Given the description of an element on the screen output the (x, y) to click on. 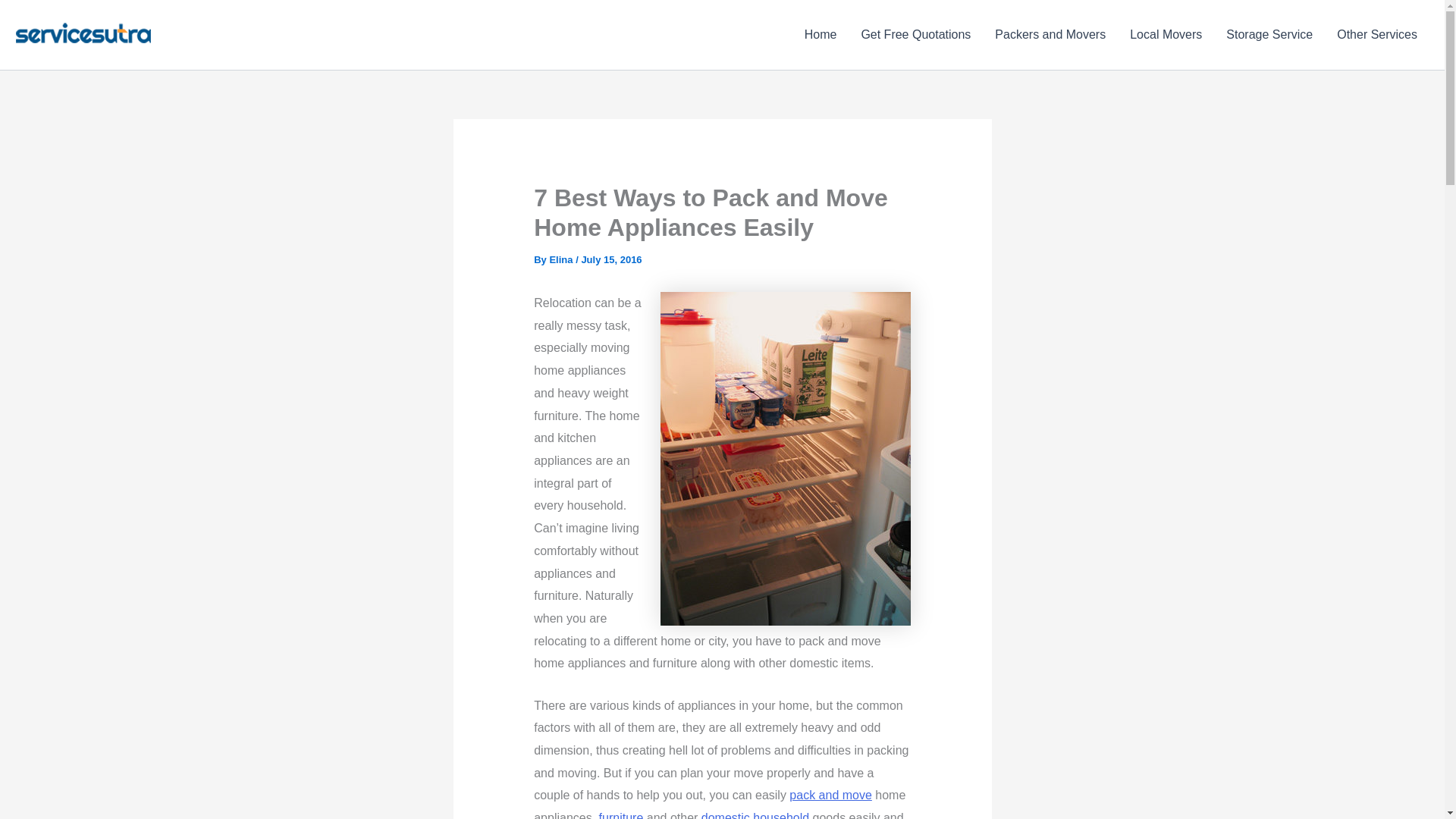
furniture (620, 815)
pack and move (830, 794)
Elina (560, 259)
Get Free Quotations (915, 34)
Packers and Movers (1050, 34)
Local Movers (1166, 34)
Other Services (1376, 34)
Storage Service (1269, 34)
domestic household (755, 815)
View all posts by Elina (560, 259)
Home (820, 34)
